Given the description of an element on the screen output the (x, y) to click on. 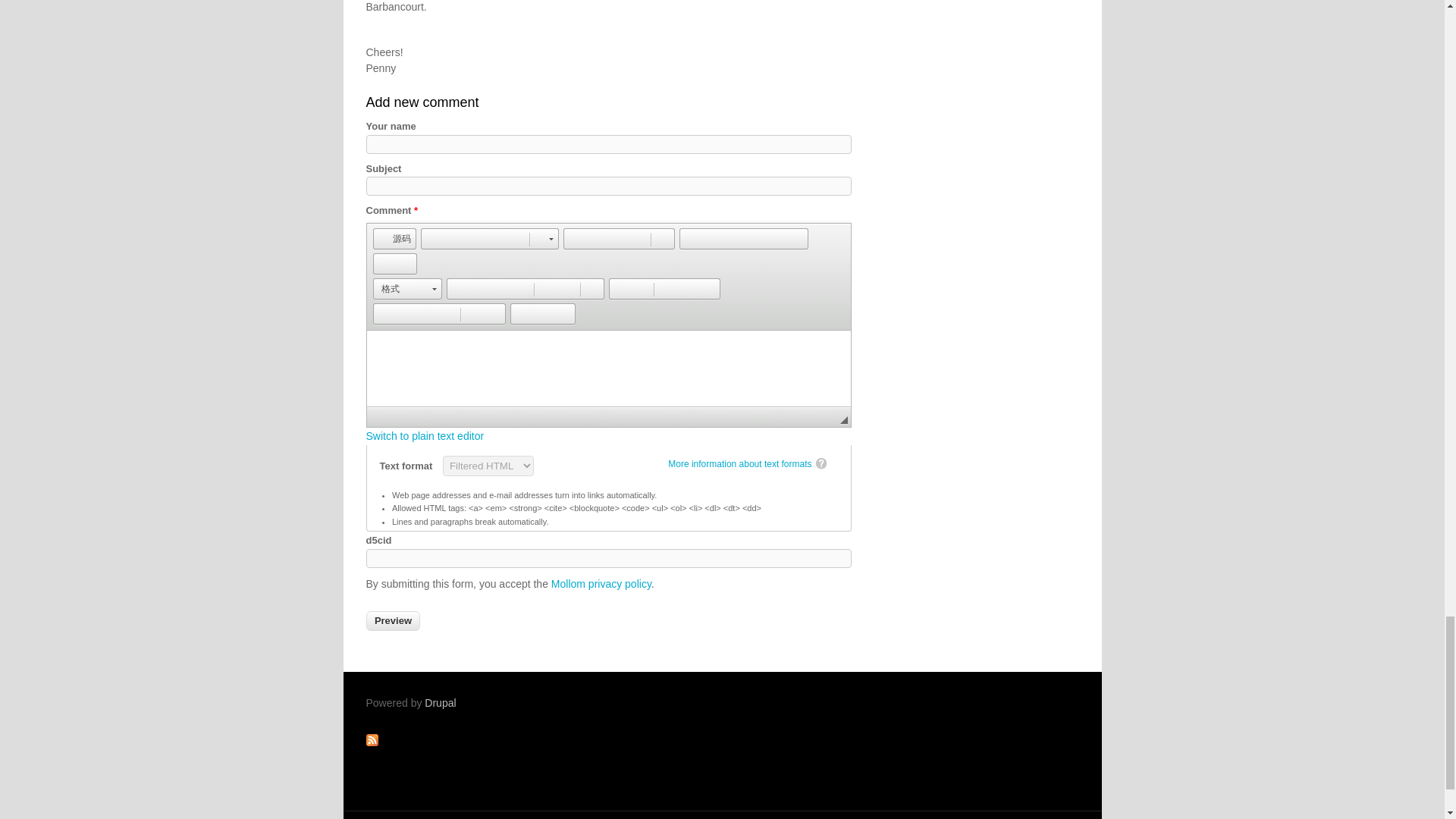
Flash (711, 238)
